Given the description of an element on the screen output the (x, y) to click on. 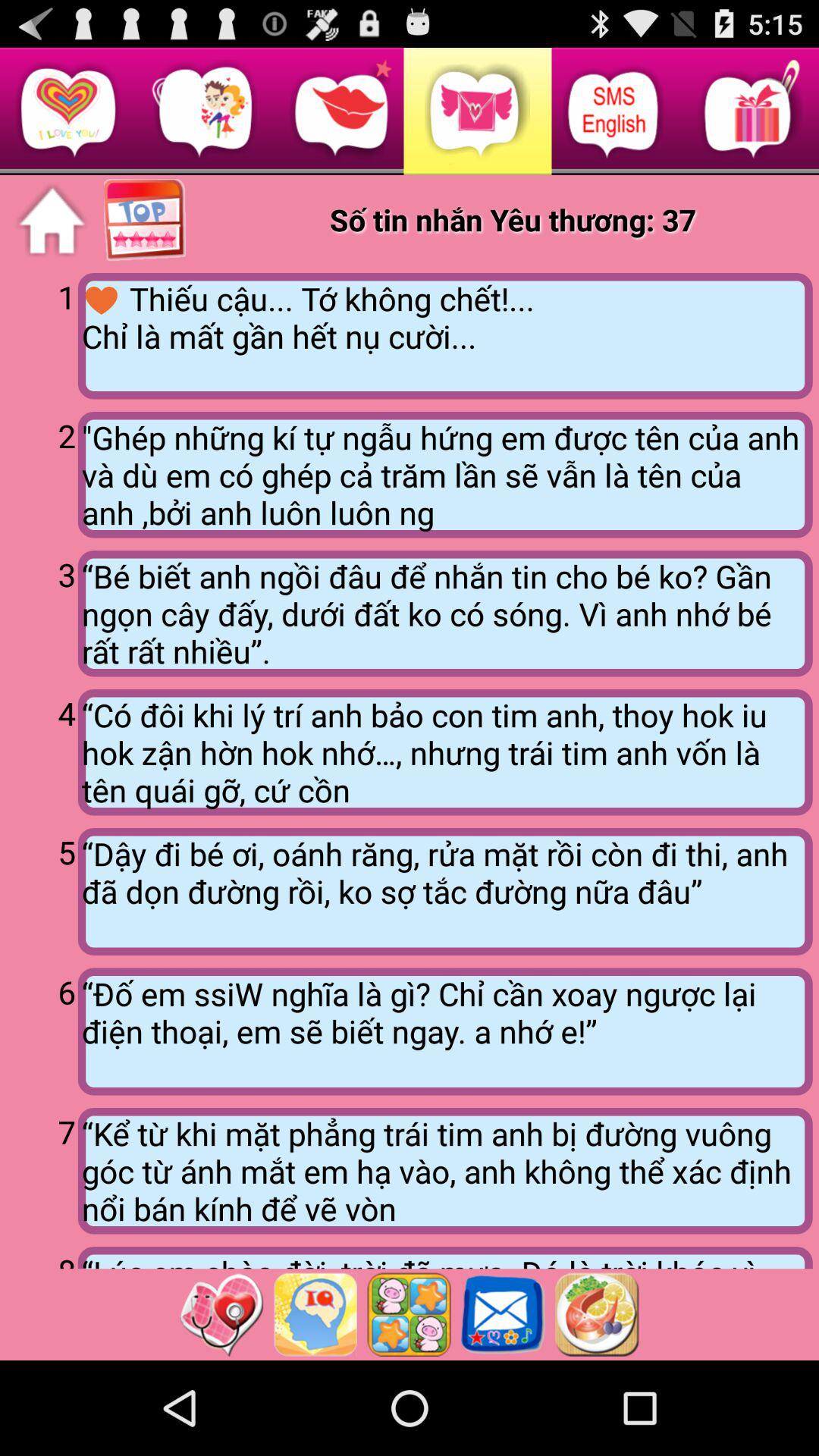
go to home page (51, 220)
